Given the description of an element on the screen output the (x, y) to click on. 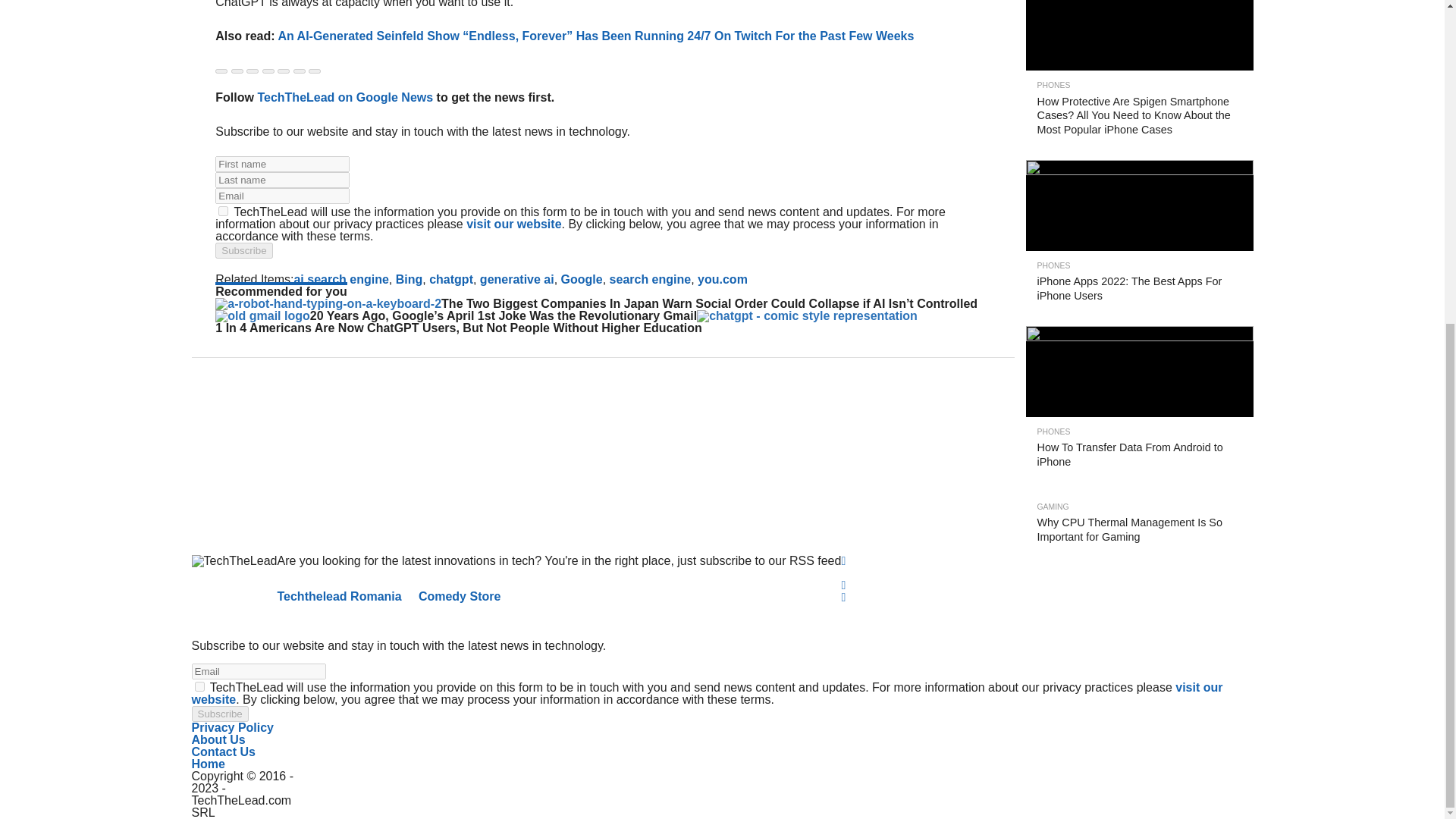
Subscribe (218, 713)
Subscribe (243, 250)
1 (223, 211)
1 (198, 686)
